Given the description of an element on the screen output the (x, y) to click on. 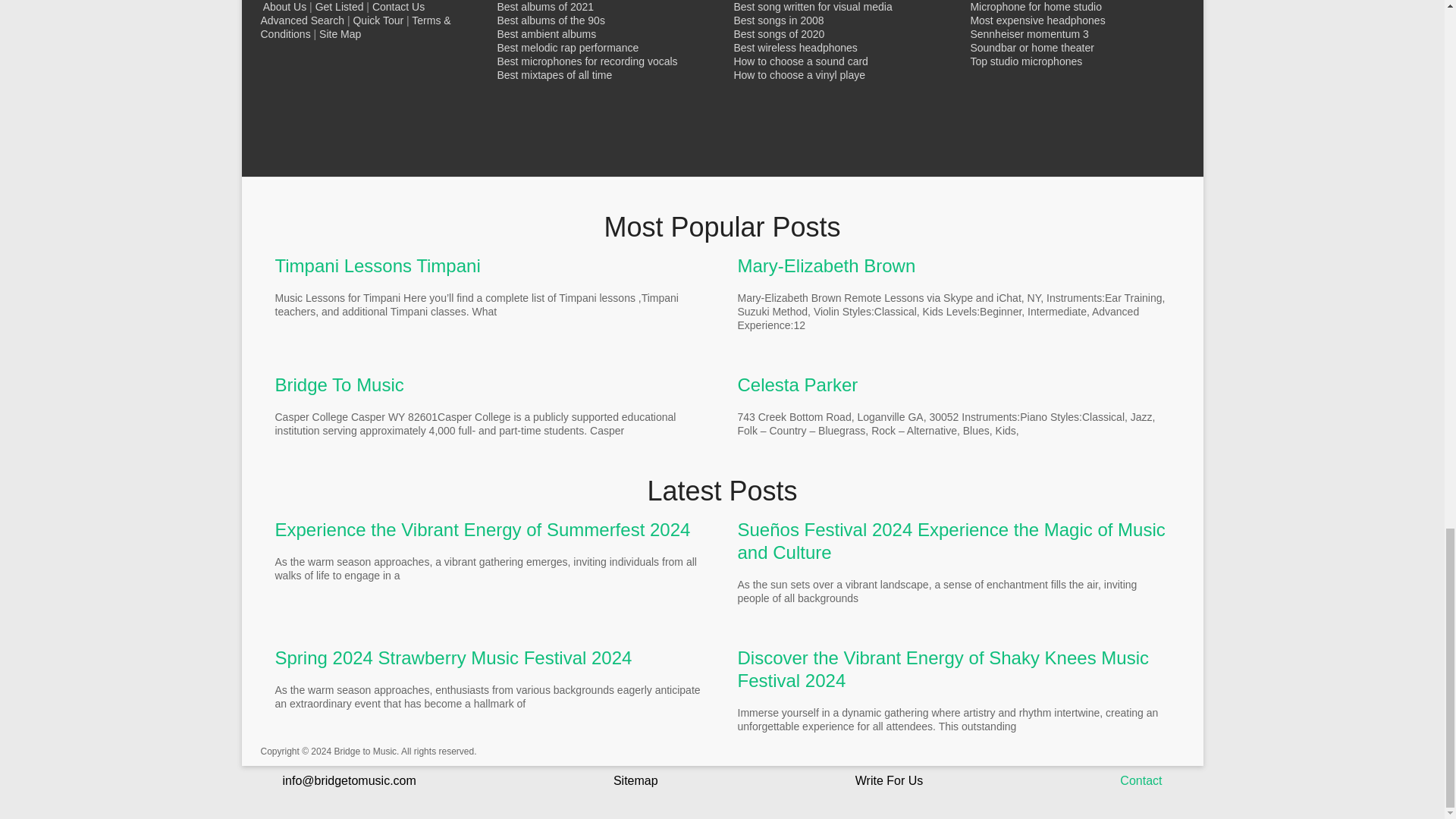
Bridge to Music (364, 751)
